Given the description of an element on the screen output the (x, y) to click on. 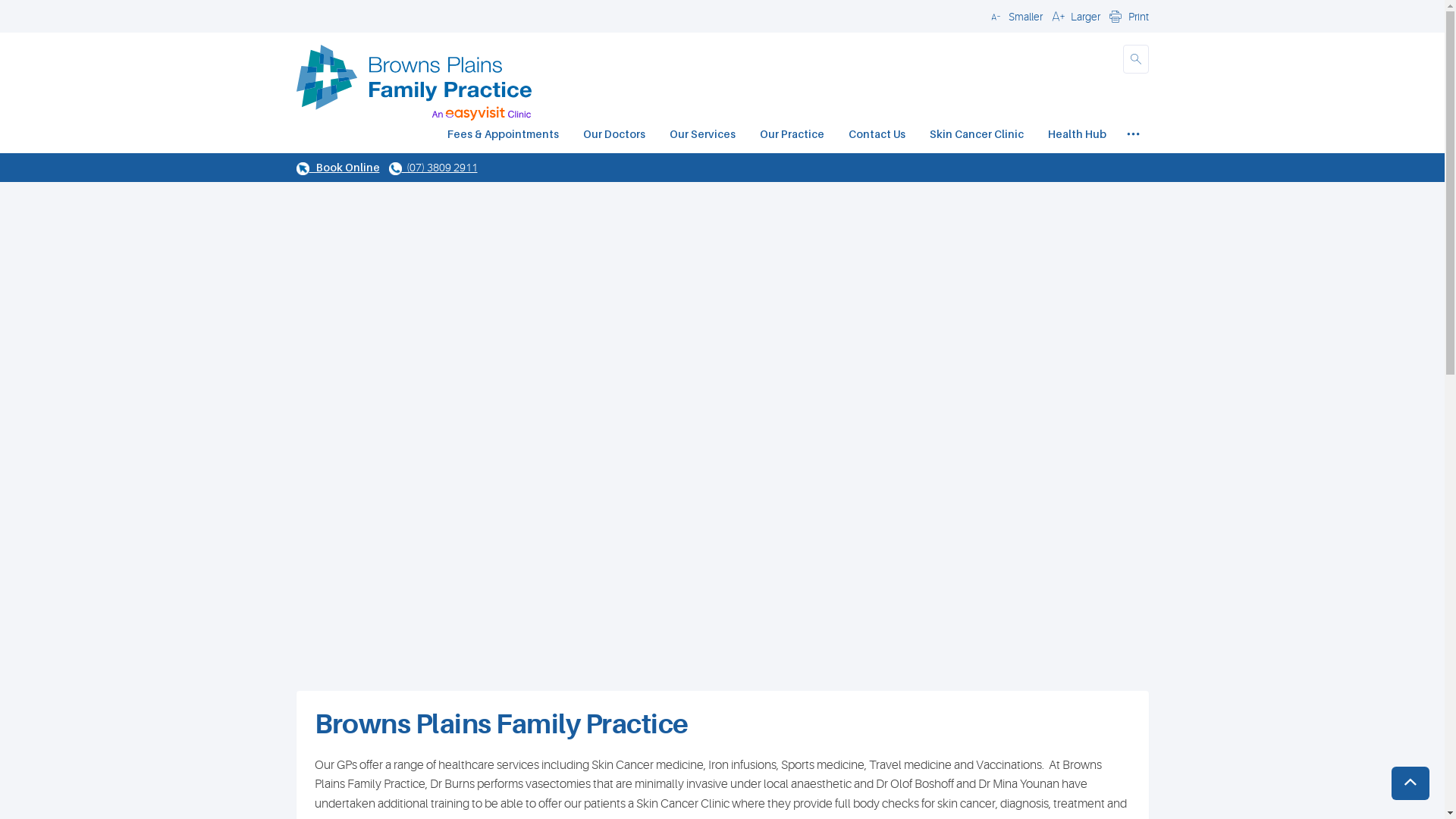
Fees & Appointments Element type: text (502, 135)
Larger Element type: text (1073, 15)
Skin Cancer Clinic Element type: text (976, 135)
Smaller Element type: text (1013, 15)
Print Element type: text (1126, 15)
Our Practice Element type: text (791, 135)
   Book Online Element type: text (337, 166)
Contact Us Element type: text (875, 135)
Our Doctors Element type: text (613, 135)
Health Hub Element type: text (1077, 135)
  (07) 3809 2911 Element type: text (432, 167)
Our Services Element type: text (701, 135)
